Given the description of an element on the screen output the (x, y) to click on. 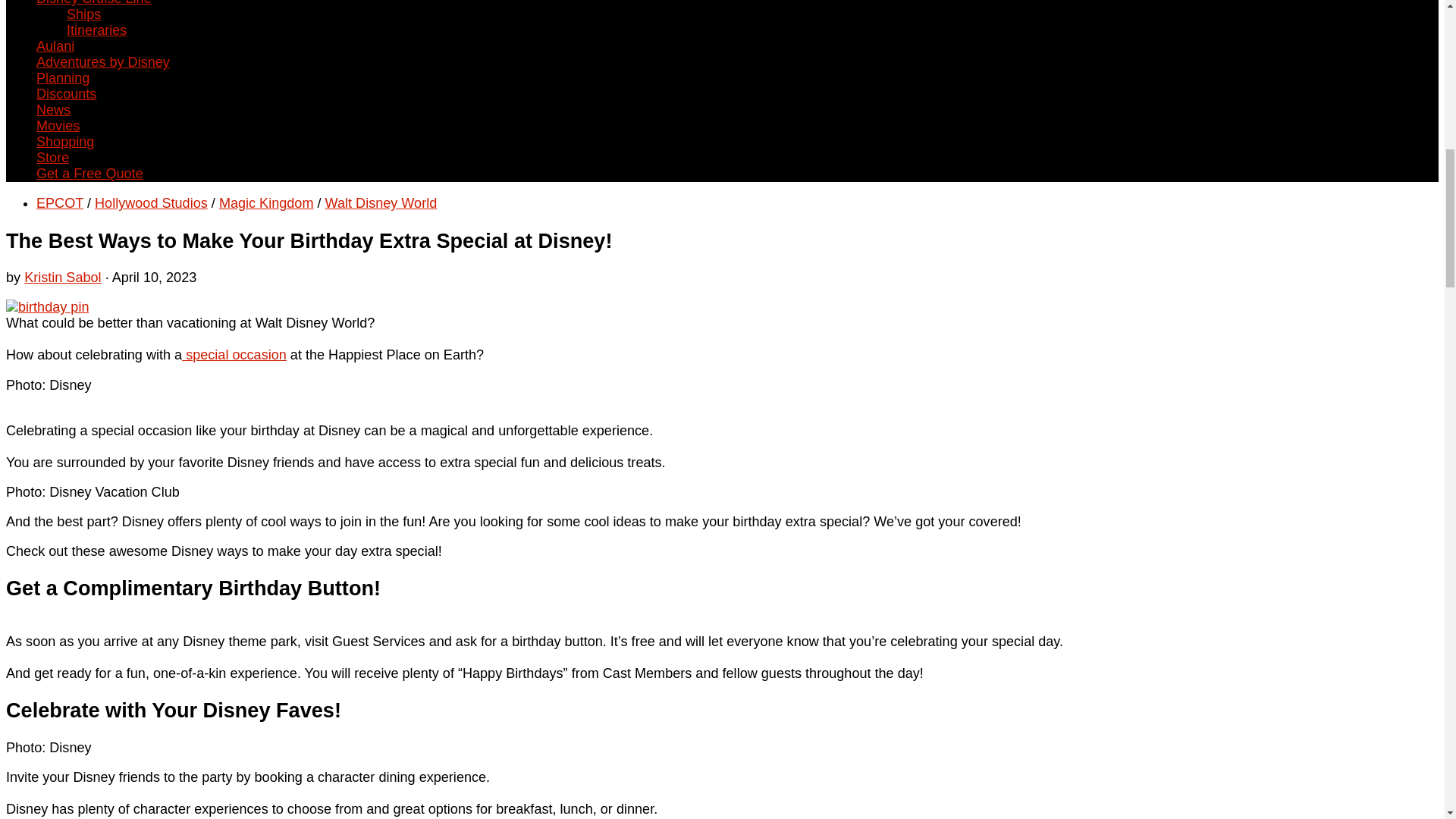
Posts by Kristin Sabol (62, 277)
The Best Ways to Make Your Birthday Extra Special at Disney! (46, 306)
